Given the description of an element on the screen output the (x, y) to click on. 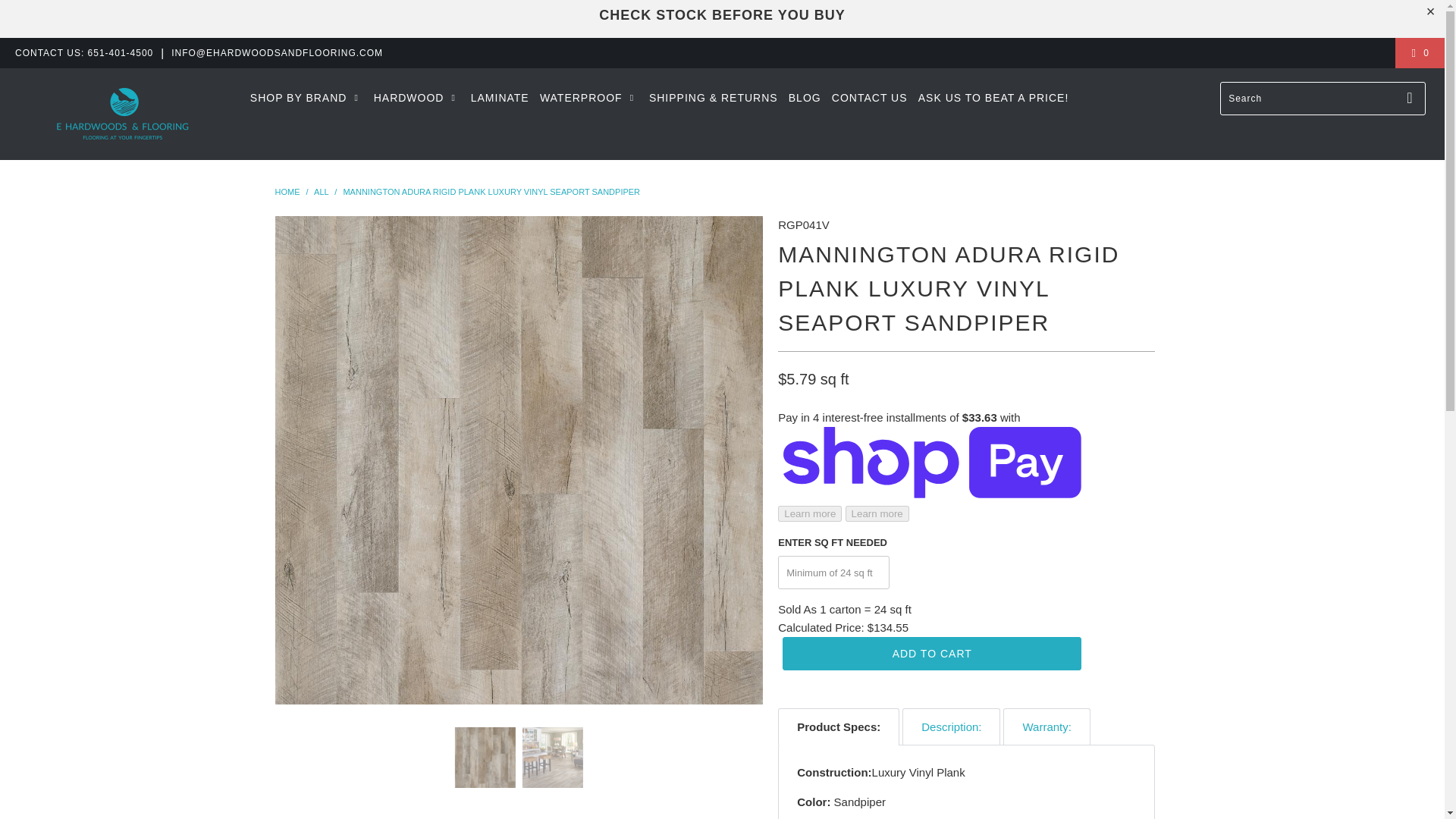
All (322, 191)
Email Us Today (276, 52)
Check Inventory Stock (721, 14)
